Given the description of an element on the screen output the (x, y) to click on. 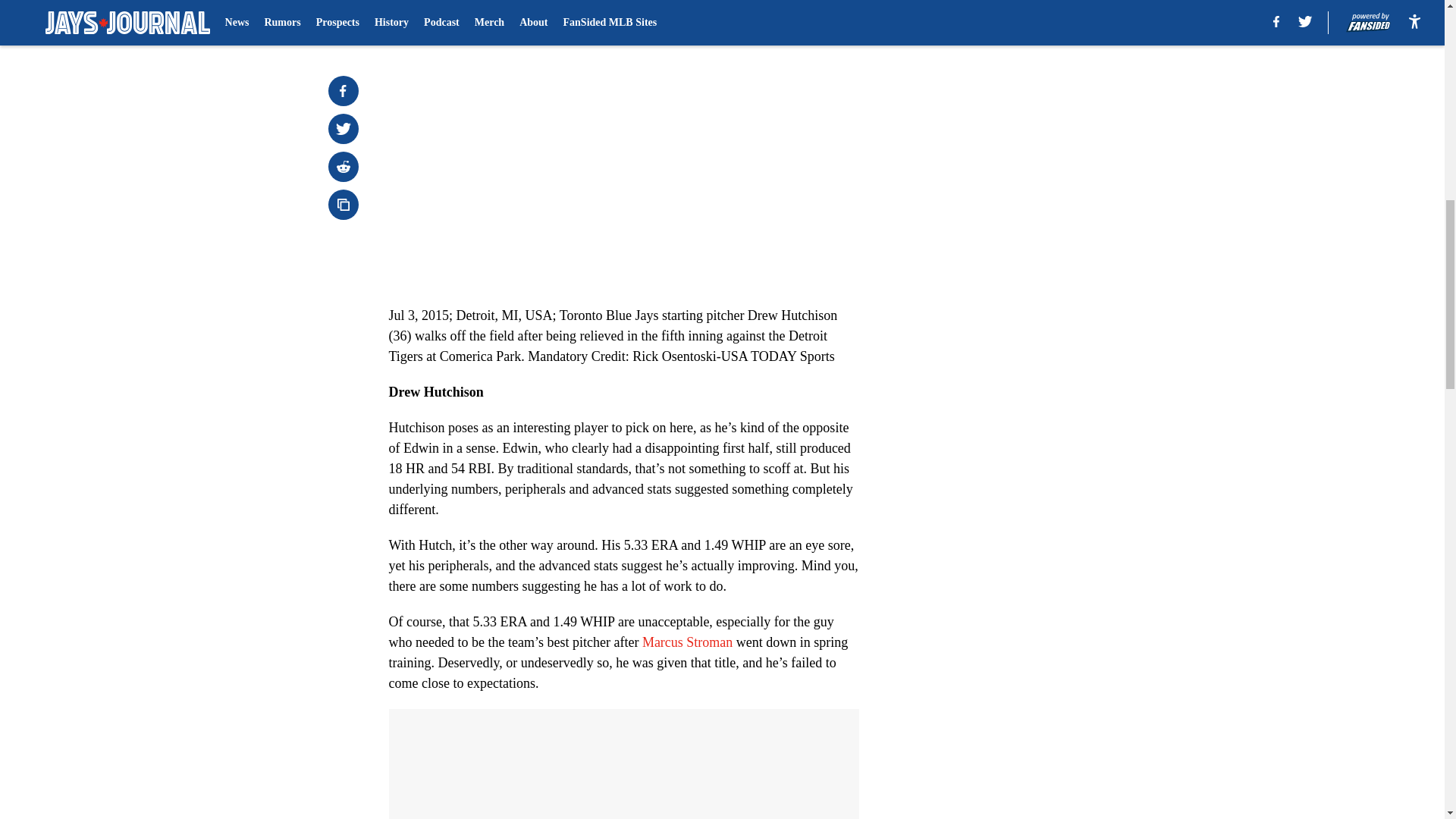
Next (813, 5)
Marcus Stroman (687, 642)
Prev (433, 5)
